Given the description of an element on the screen output the (x, y) to click on. 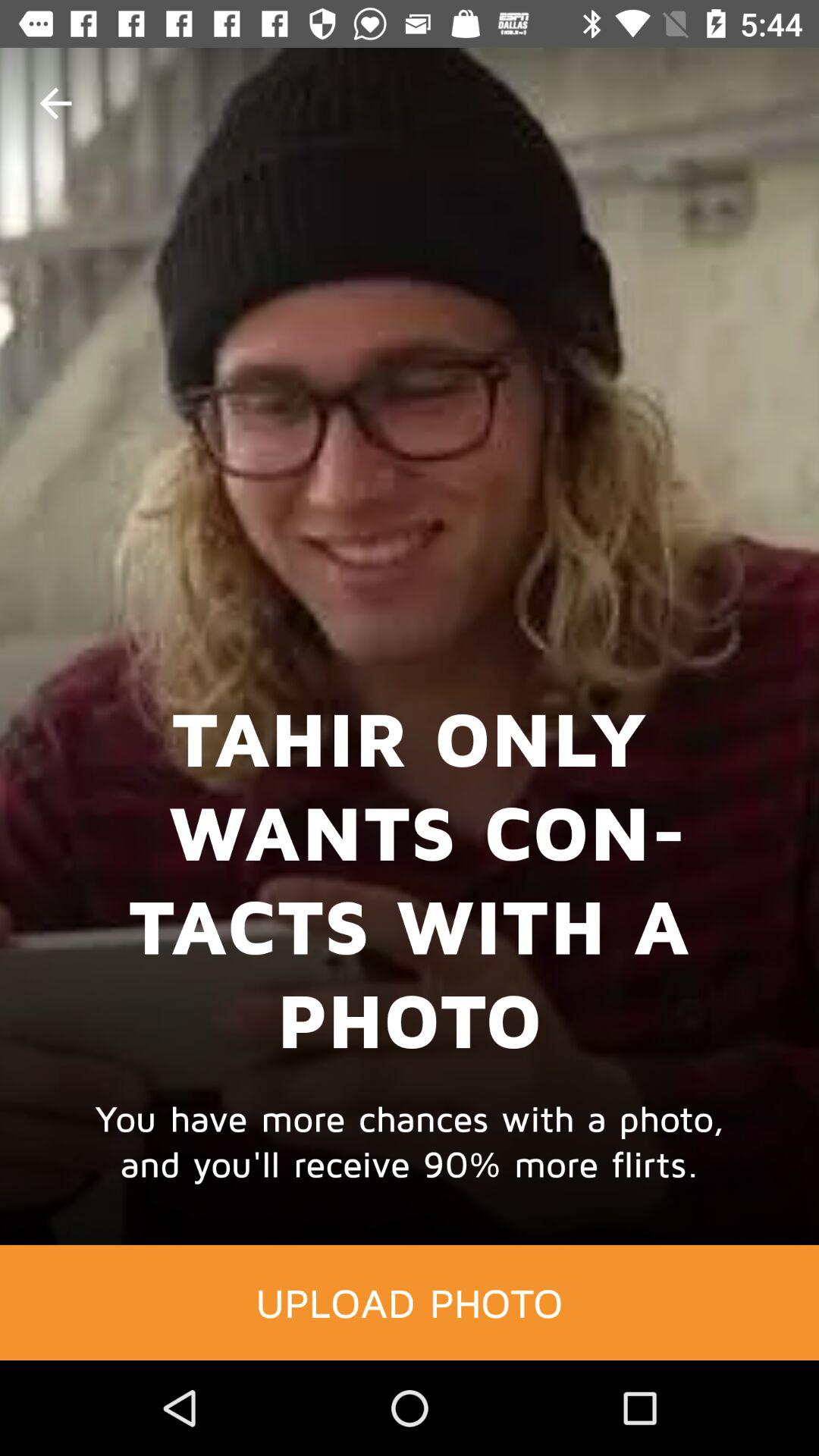
press the item at the top left corner (55, 103)
